Given the description of an element on the screen output the (x, y) to click on. 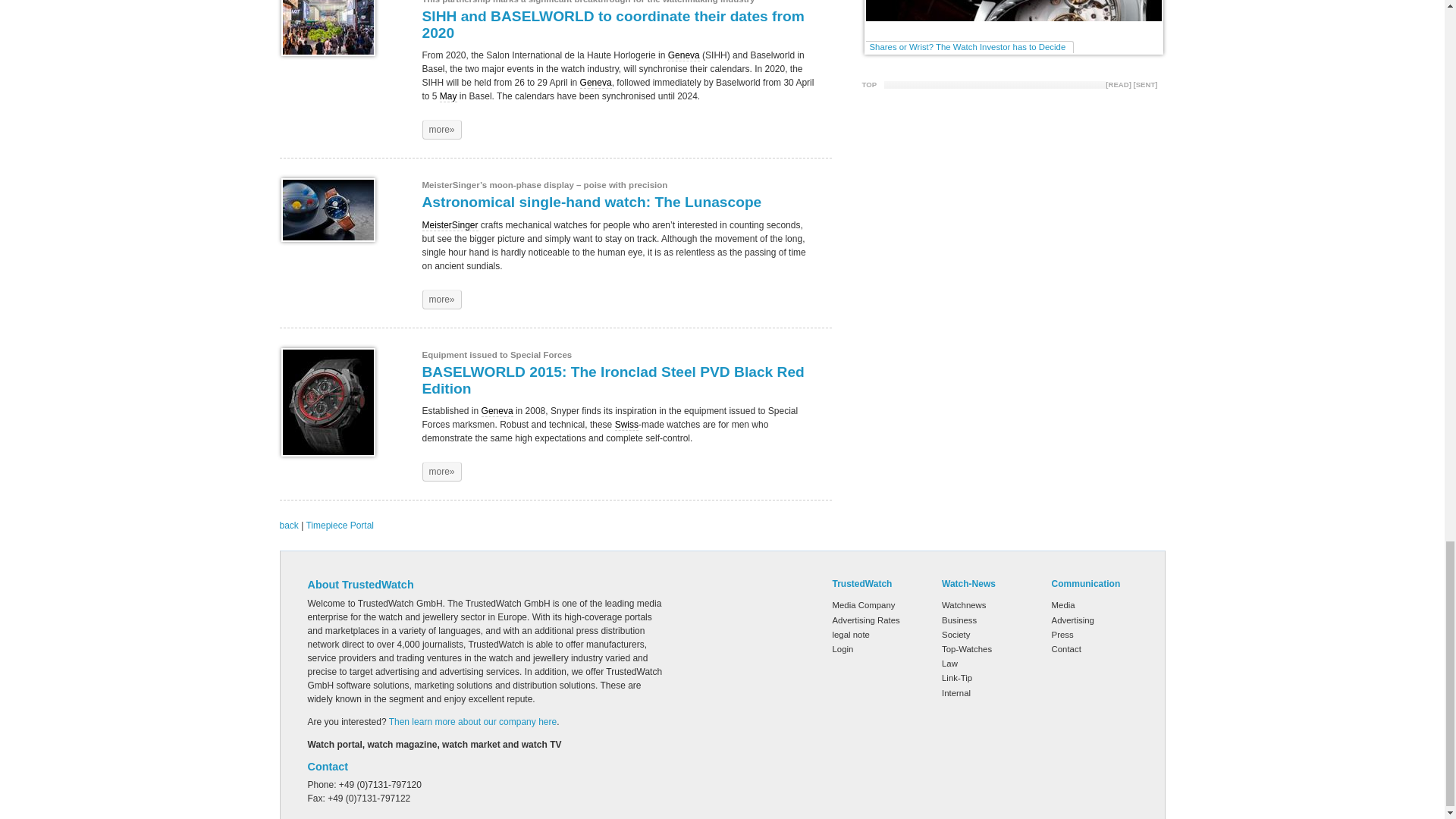
SIHH and BASELWORLD to coordinate their dates from 2020 (441, 129)
Astronomical single-hand watch: The Lunascope (441, 299)
BASELWORLD 2015: The Ironclad Steel PVD Black Red Edition (441, 471)
Astronomical single-hand watch: The Lunascope (327, 209)
SIHH and BASELWORLD to coordinate their dates from 2020 (327, 28)
